Given the description of an element on the screen output the (x, y) to click on. 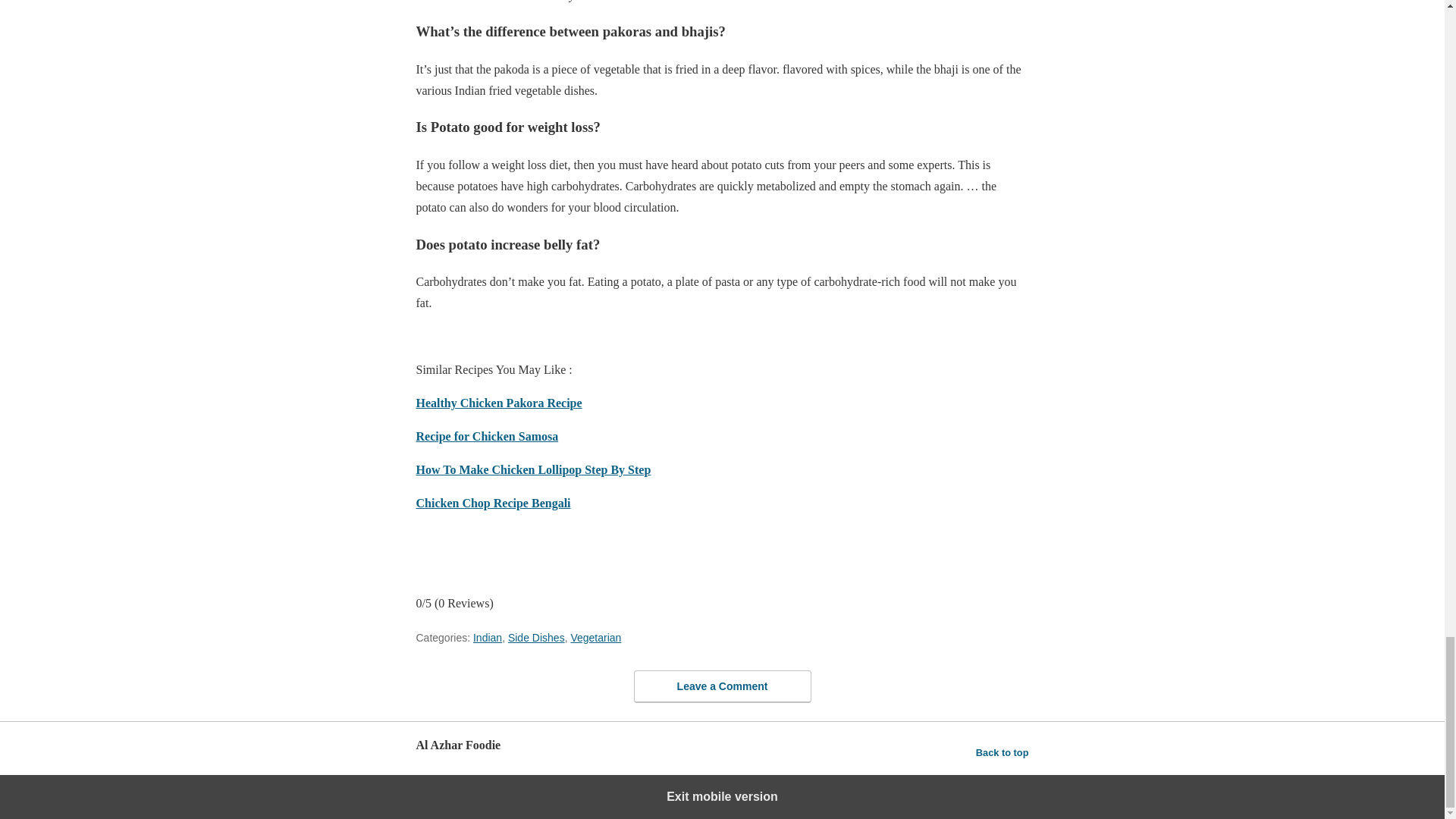
Recipe for Chicken Samosa (485, 436)
Leave a Comment (721, 686)
Chicken Chop Recipe Bengali (492, 502)
Vegetarian (595, 637)
Side Dishes (536, 637)
Indian (487, 637)
Back to top (1002, 752)
How To Make Chicken Lollipop Step By Step (532, 469)
Healthy Chicken Pakora Recipe (497, 402)
